Given the description of an element on the screen output the (x, y) to click on. 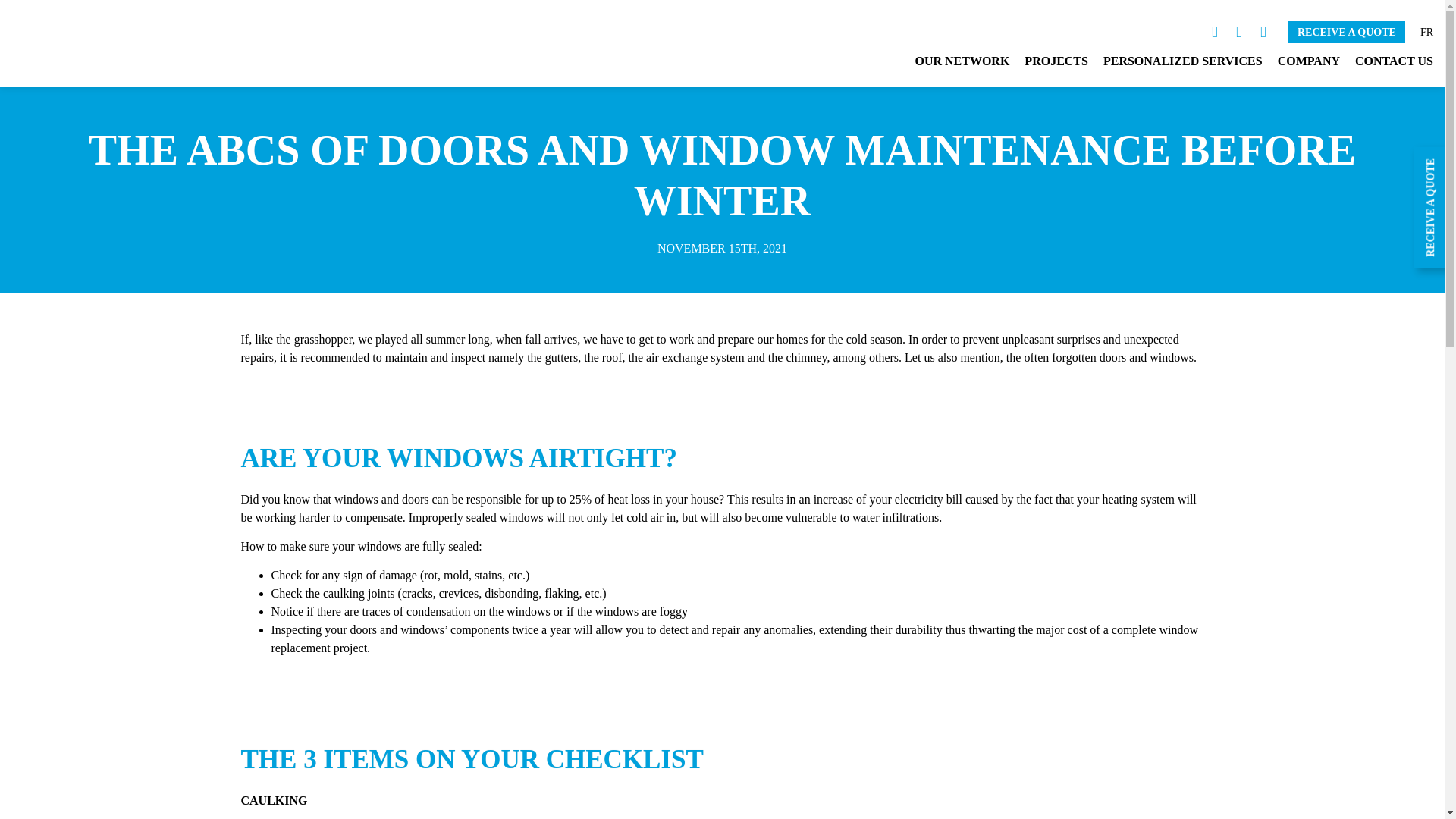
PROJECTS (1056, 62)
RECEIVE A QUOTE (1346, 32)
CONTACT US (1393, 62)
RECEIVE A QUOTE (1346, 32)
OUR NETWORK (961, 62)
FR (1426, 30)
PERSONALIZED SERVICES (1182, 62)
COMPANY (1308, 62)
OUR NETWORK (961, 62)
PROJECTS (1056, 62)
